Given the description of an element on the screen output the (x, y) to click on. 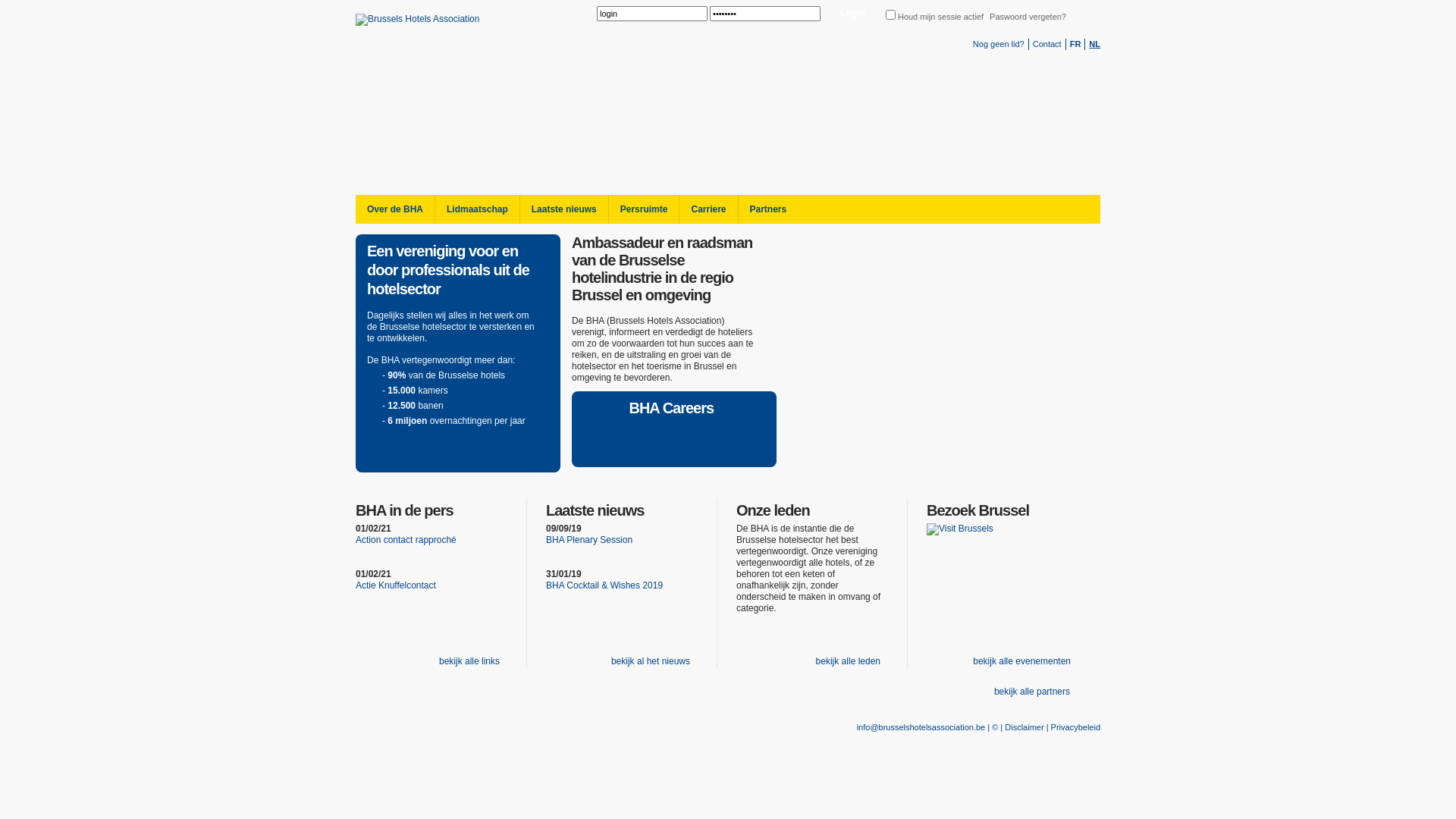
FR Element type: text (1075, 43)
Over de BHA Element type: text (394, 208)
Uw CV, onze werkaanbiedingen Element type: text (671, 447)
Paswoord vergeten? Element type: text (1027, 16)
bekijk alle partners Element type: text (1029, 691)
Persruimte Element type: text (643, 208)
info@brusselshotelsassociation.be Element type: text (920, 726)
Partners Element type: text (767, 208)
Lidmaatschap Element type: text (476, 208)
NL Element type: text (1094, 43)
Login Element type: text (852, 13)
bekijk alle leden Element type: text (846, 661)
Laatste nieuws Element type: text (563, 208)
Lid worden Element type: text (423, 453)
Disclaimer Element type: text (1023, 726)
bekijk al het nieuws Element type: text (648, 661)
bekijk alle evenementen Element type: text (1019, 661)
Lid worden Element type: text (423, 452)
BHA Plenary Session Element type: text (589, 539)
BHA Cocktail & Wishes 2019 Element type: text (604, 585)
Carriere Element type: text (707, 208)
Nog geen lid? Element type: text (998, 43)
Privacybeleid Element type: text (1075, 726)
Uw CV, onze werkaanbiedingen Element type: text (671, 447)
bekijk alle links Element type: text (467, 661)
Actie Knuffelcontact Element type: text (395, 585)
Contact Element type: text (1046, 43)
